Given the description of an element on the screen output the (x, y) to click on. 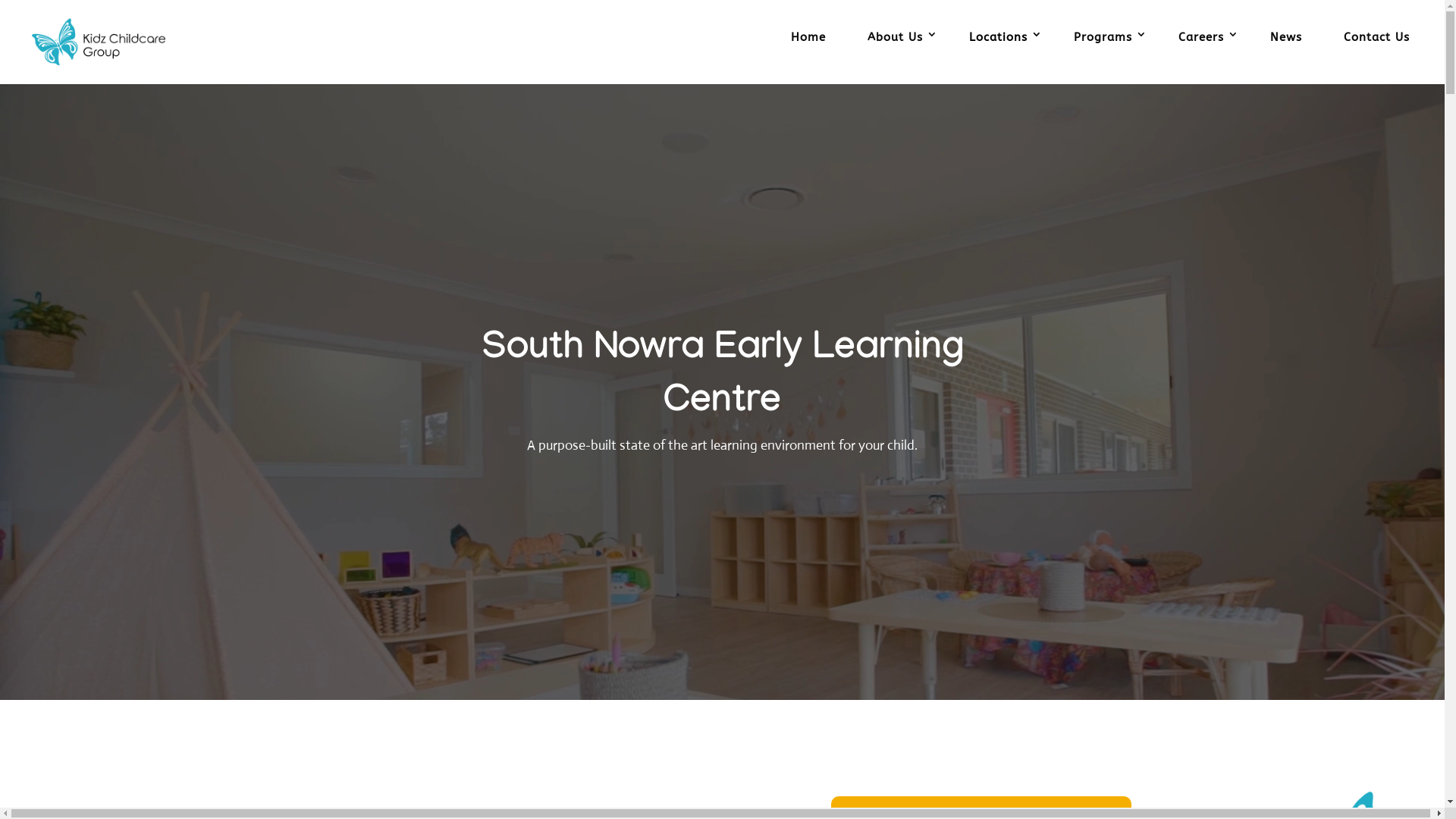
Careers Element type: text (1203, 52)
Contact Us Element type: text (1376, 52)
Programs Element type: text (1105, 52)
About Us Element type: text (897, 52)
Locations Element type: text (1000, 52)
News Element type: text (1285, 52)
Home Element type: text (808, 52)
